Given the description of an element on the screen output the (x, y) to click on. 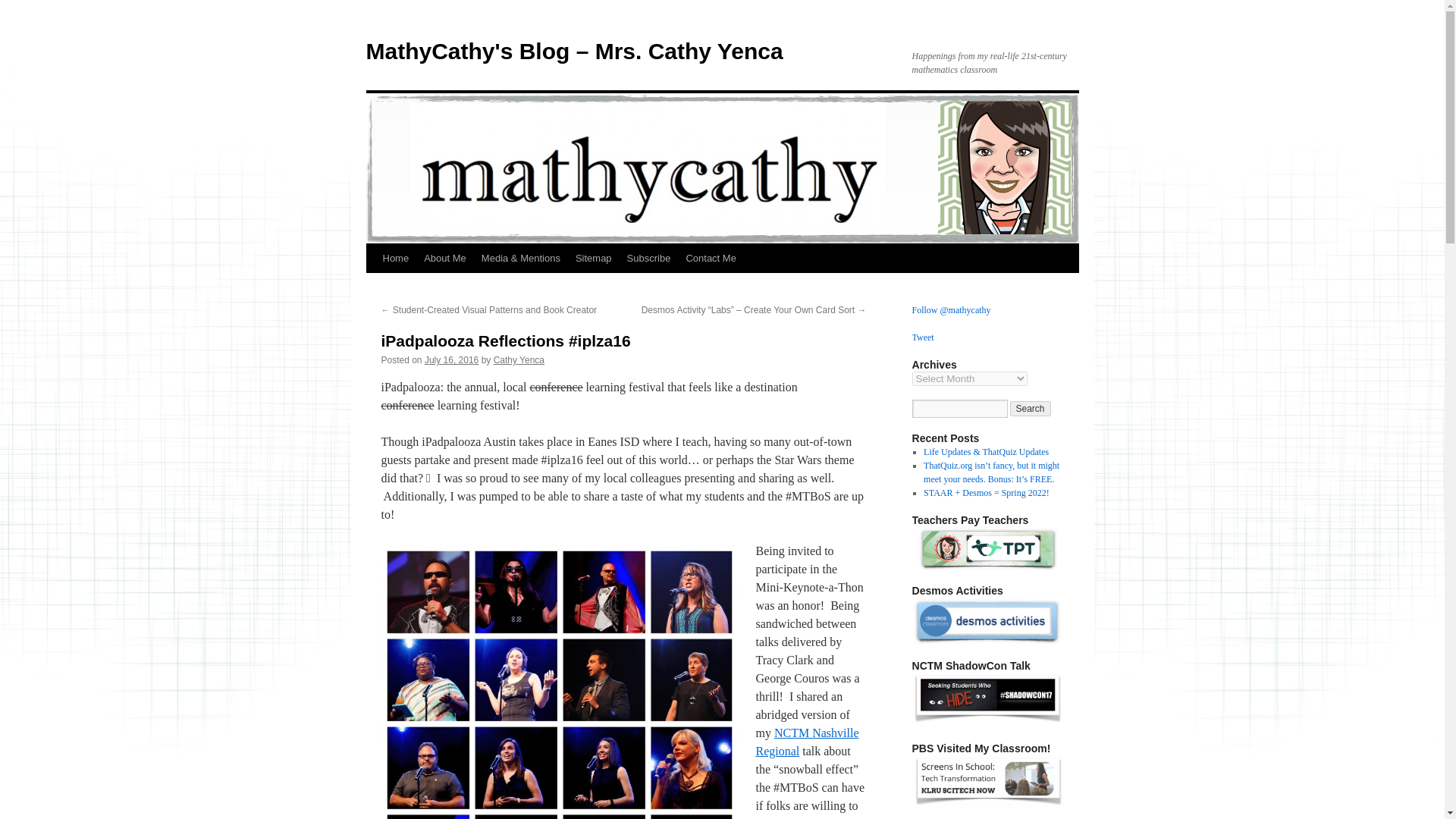
Desmos Activities (986, 621)
Cathy Yenca (518, 359)
NCTM ShadowCon Talk (986, 720)
10:11 am (452, 359)
NCTM Nashville Regional (807, 741)
View all posts by Cathy Yenca (518, 359)
July 16, 2016 (452, 359)
Teachers Pay Teachers (986, 548)
Sitemap (593, 258)
Search (1030, 408)
